Given the description of an element on the screen output the (x, y) to click on. 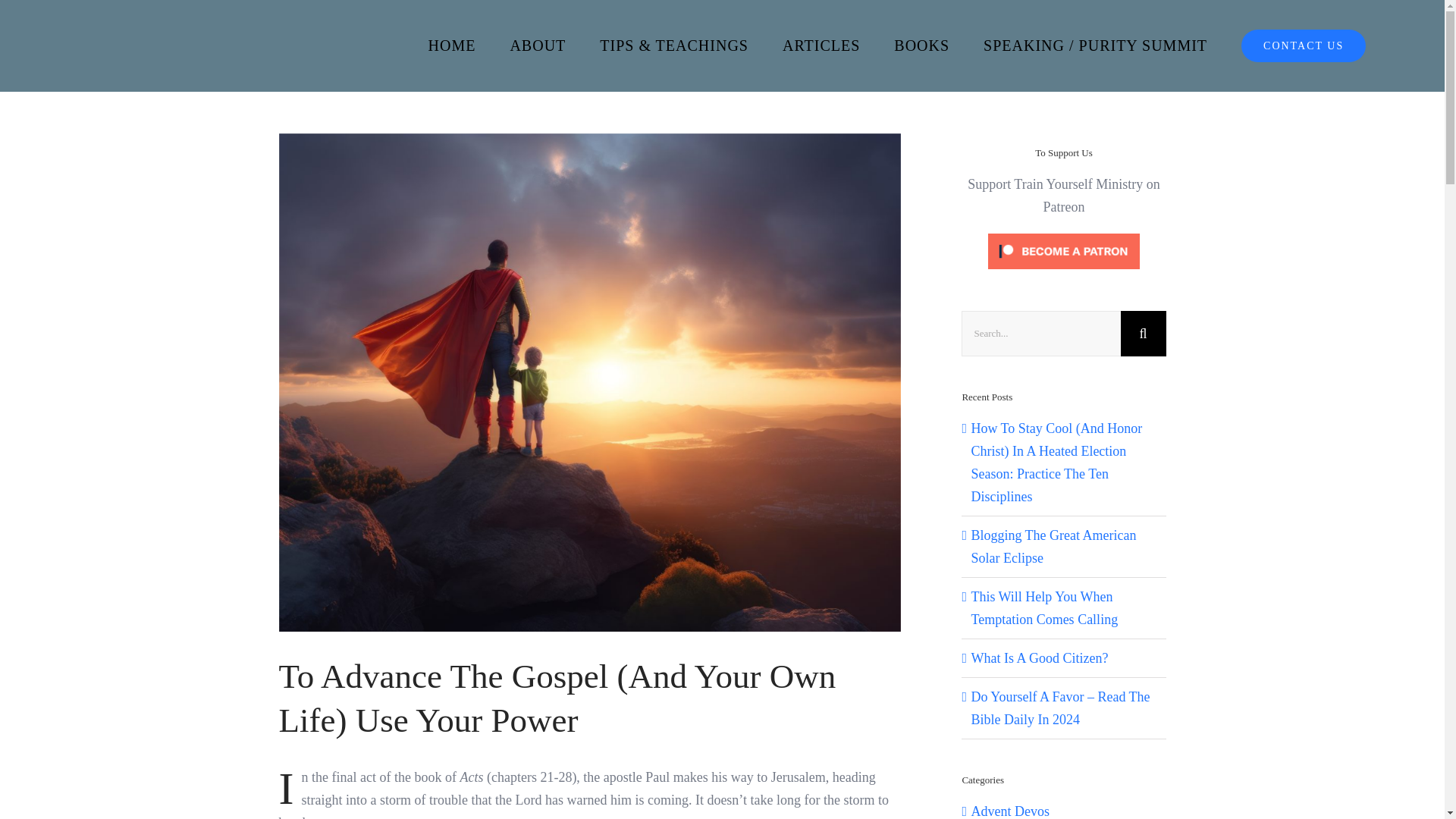
What Is A Good Citizen? (1039, 657)
This Will Help You When Temptation Comes Calling (1044, 607)
Blogging The Great American Solar Eclipse (1053, 546)
CONTACT US (1303, 44)
ARTICLES (821, 44)
